Given the description of an element on the screen output the (x, y) to click on. 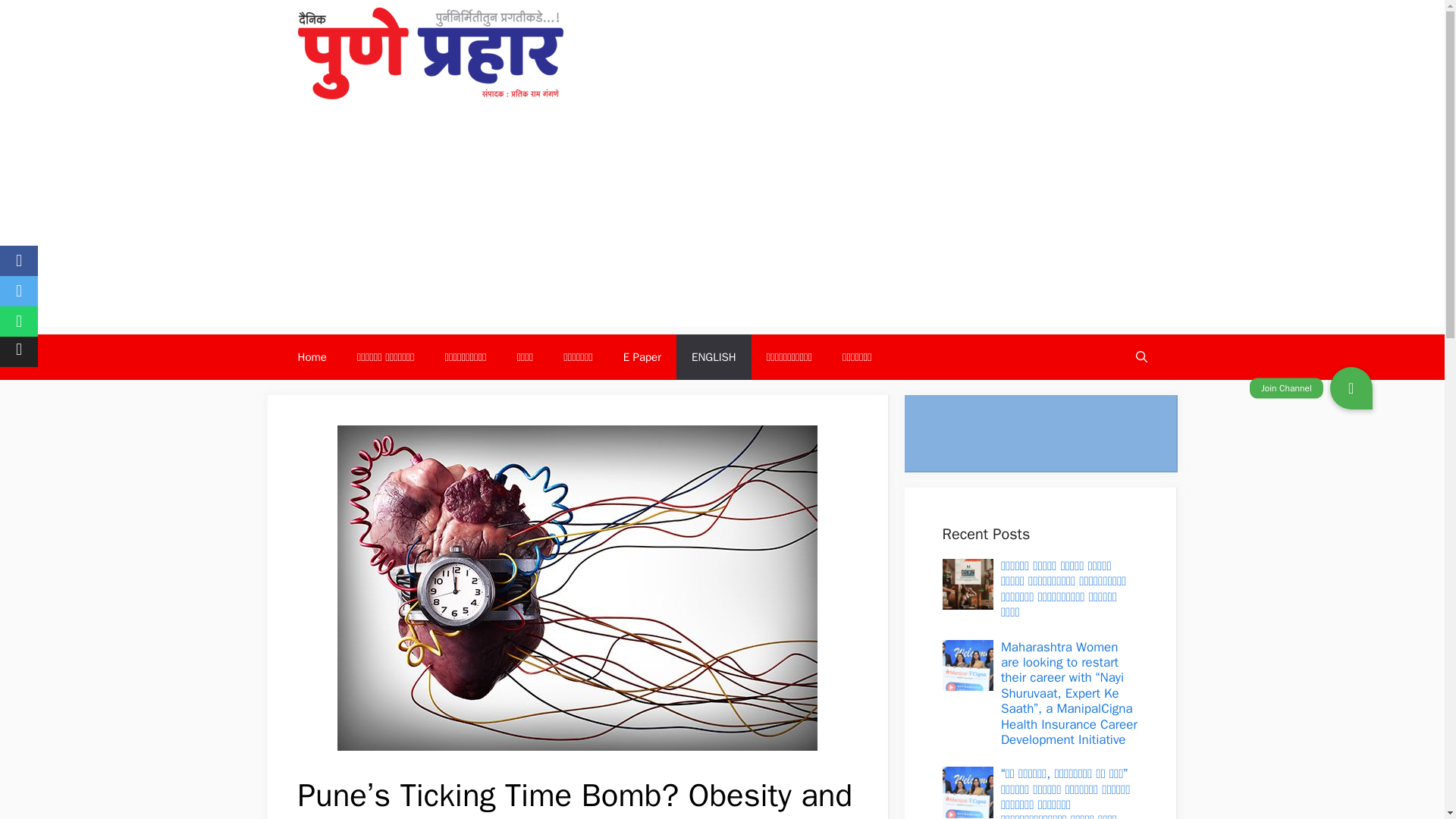
Home (311, 357)
E Paper (642, 357)
ENGLISH (714, 357)
